Given the description of an element on the screen output the (x, y) to click on. 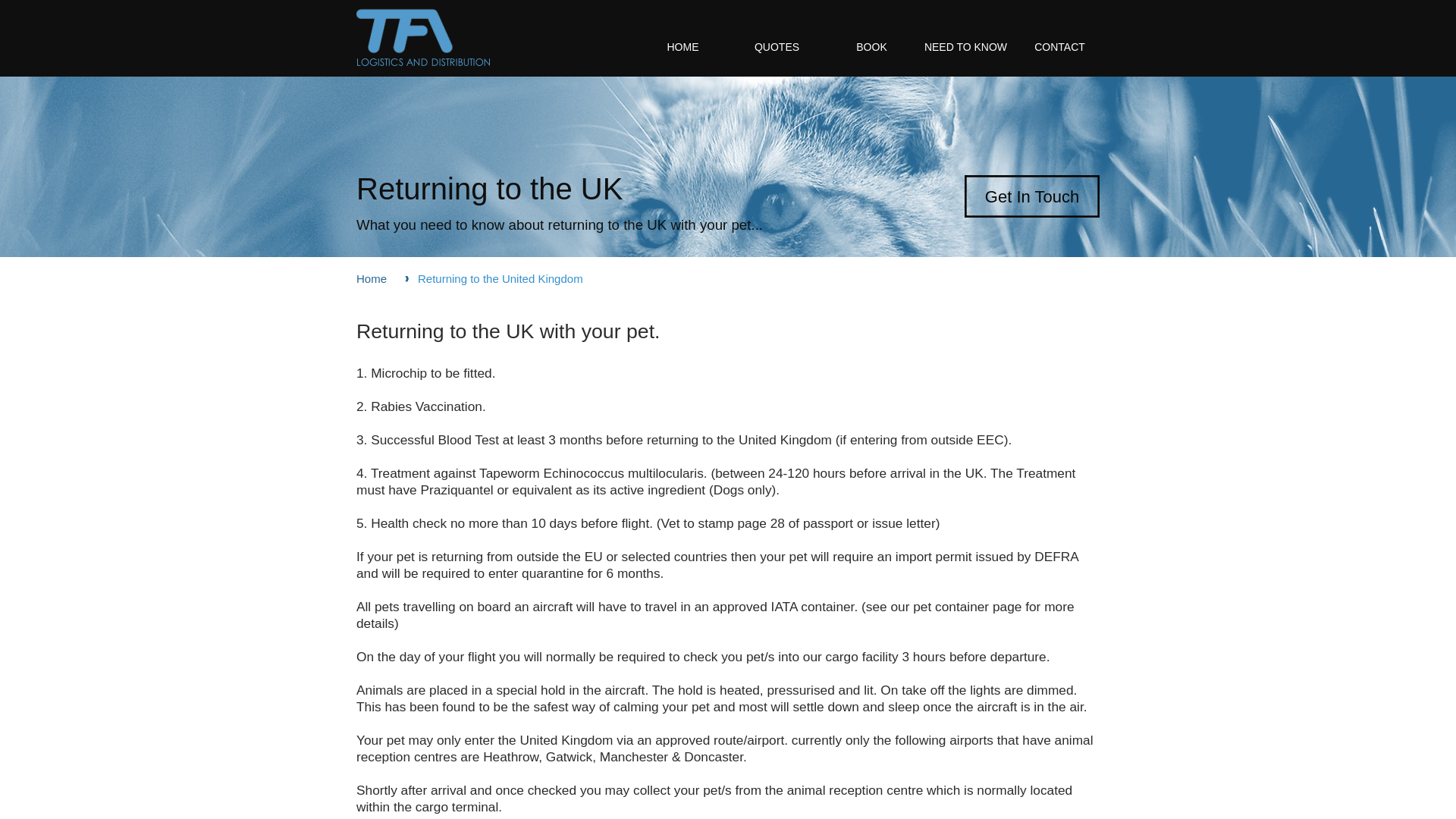
NEED TO KNOW (964, 47)
QUOTES (777, 47)
BOOK (871, 47)
HOME (682, 47)
Returning to the United Kingdom (510, 278)
CONTACT (1059, 47)
Home (375, 278)
Get In Touch (1031, 196)
